Given the description of an element on the screen output the (x, y) to click on. 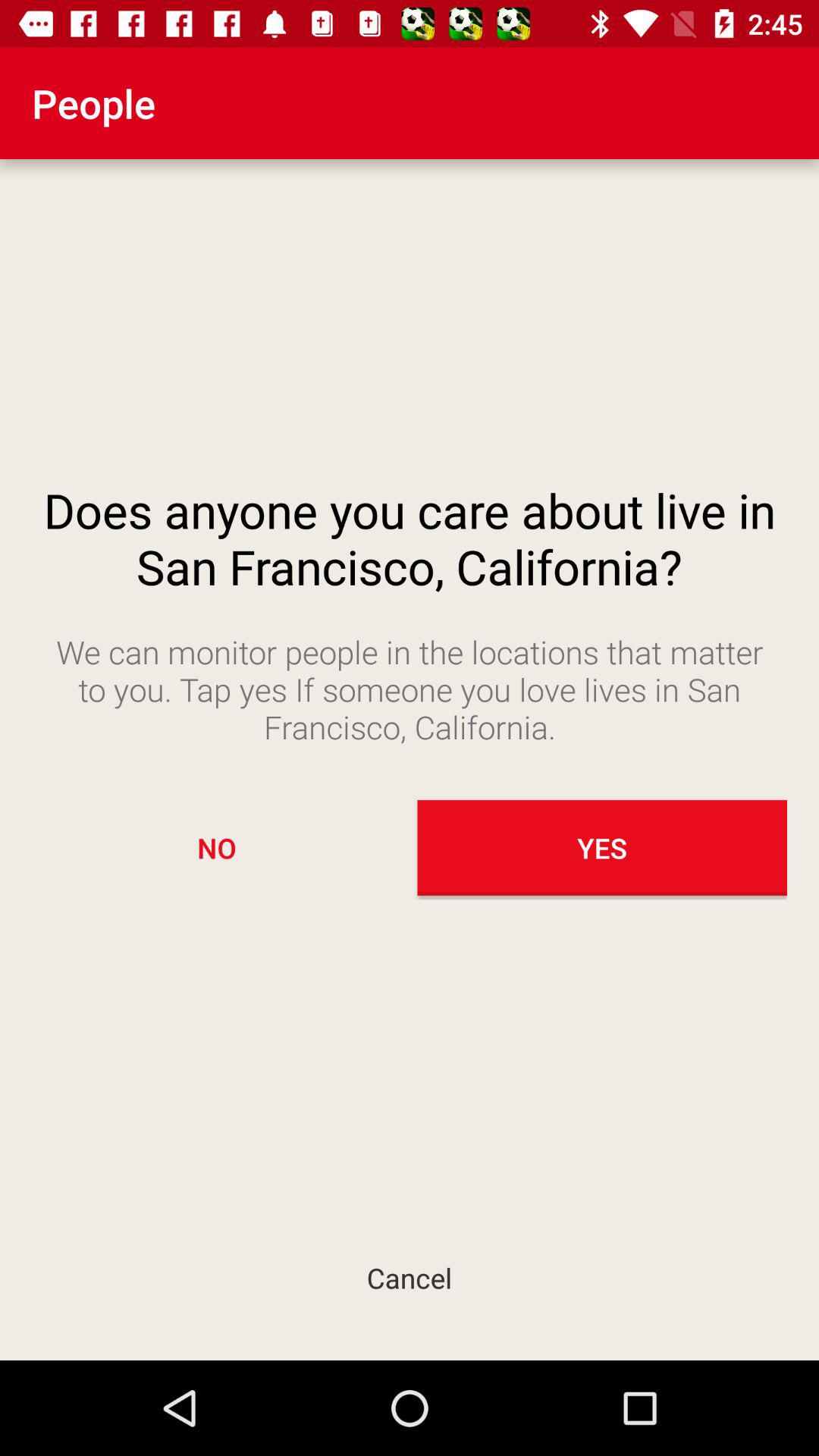
press no (216, 847)
